Given the description of an element on the screen output the (x, y) to click on. 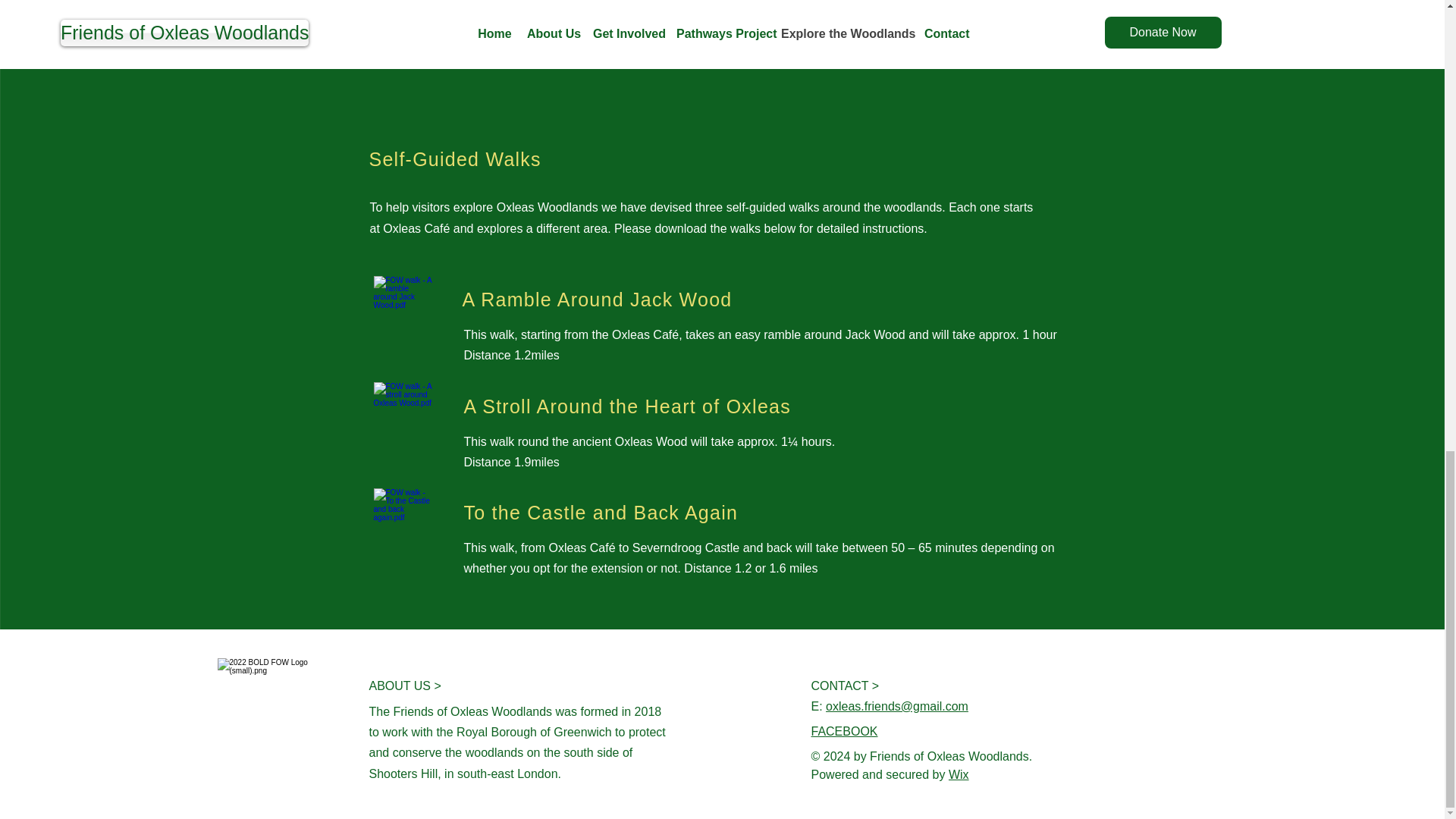
FACEBOOK (843, 730)
BBC butterfly-id-sheet-england.pdf (410, 24)
Wix (959, 774)
